Given the description of an element on the screen output the (x, y) to click on. 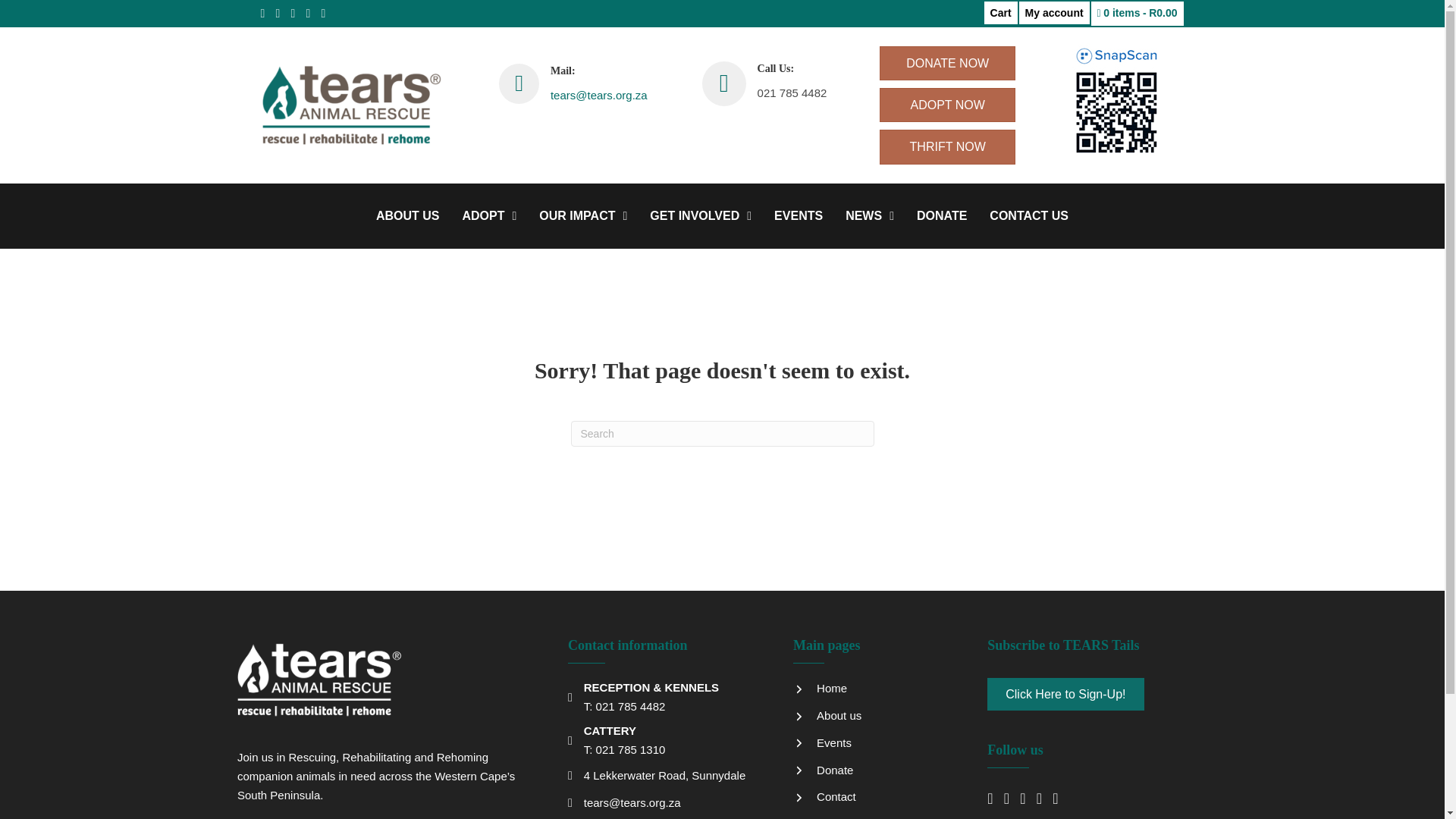
Cart (1000, 12)
OUR IMPACT (582, 216)
My account (1054, 12)
ABOUT US (407, 216)
DONATE NOW (946, 62)
ADOPT NOW (946, 104)
THRIFT NOW (946, 146)
Start shopping (1136, 13)
Type and press Enter to search. (721, 433)
ADOPT (489, 216)
